Given the description of an element on the screen output the (x, y) to click on. 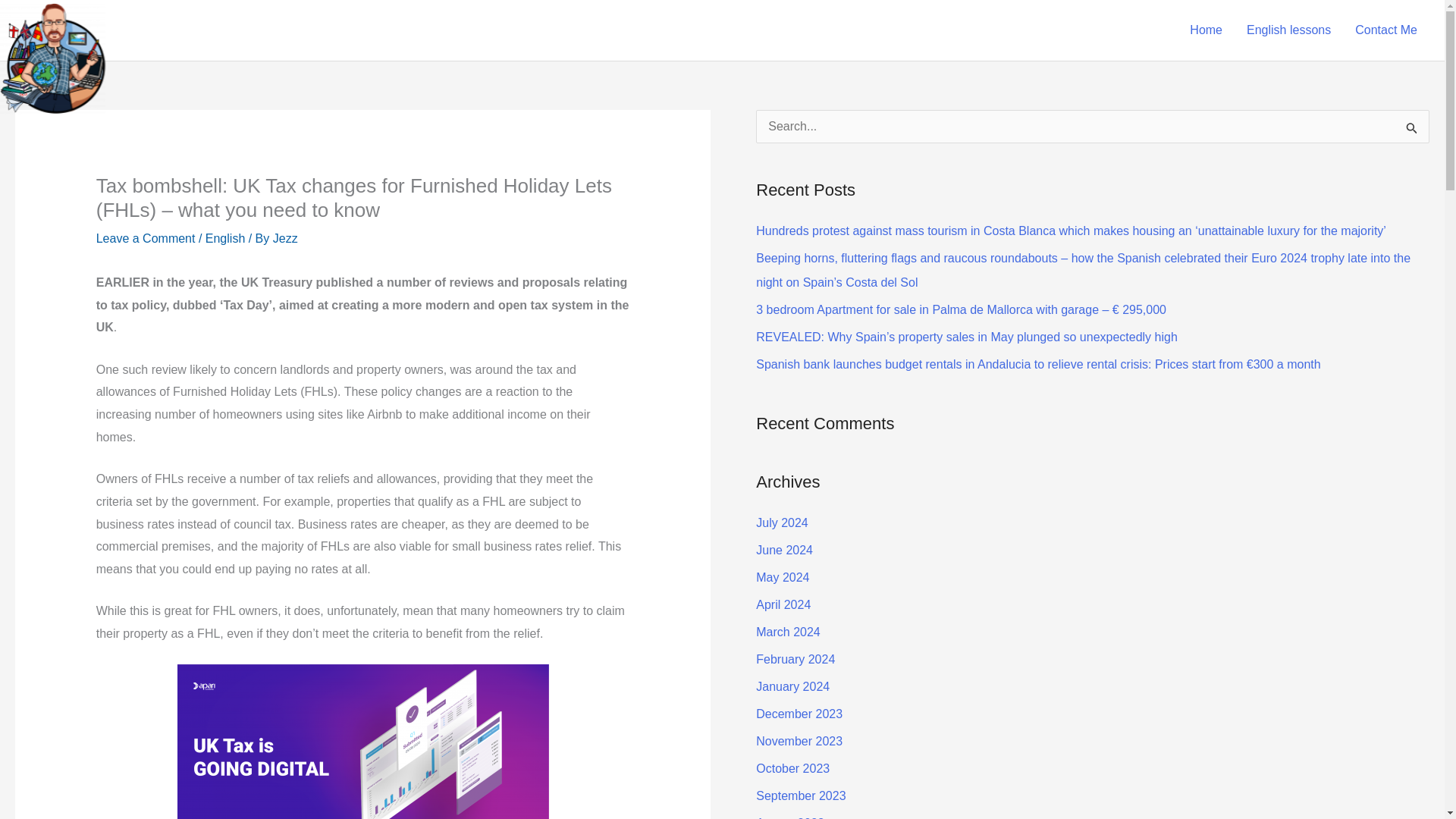
April 2024 (782, 604)
July 2024 (781, 522)
January 2024 (792, 686)
Leave a Comment (145, 237)
English (224, 237)
Contact Me (1385, 30)
December 2023 (799, 713)
Home (1205, 30)
English lessons (1288, 30)
September 2023 (800, 795)
View all posts by Jezz (285, 237)
November 2023 (799, 740)
May 2024 (782, 576)
February 2024 (794, 658)
August 2023 (789, 817)
